Given the description of an element on the screen output the (x, y) to click on. 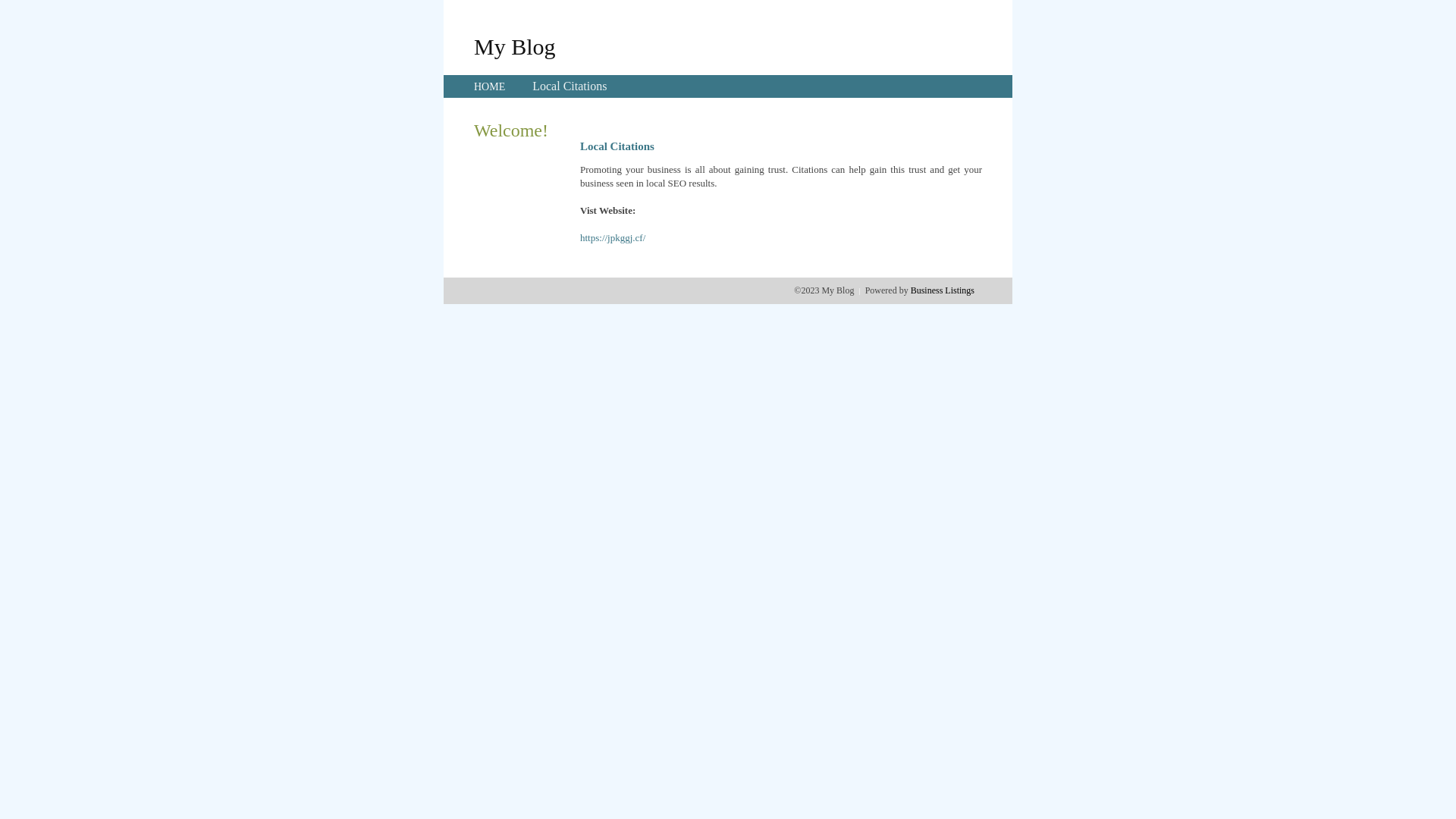
My Blog Element type: text (514, 46)
https://jpkggj.cf/ Element type: text (612, 237)
HOME Element type: text (489, 86)
Business Listings Element type: text (942, 290)
Local Citations Element type: text (569, 85)
